Given the description of an element on the screen output the (x, y) to click on. 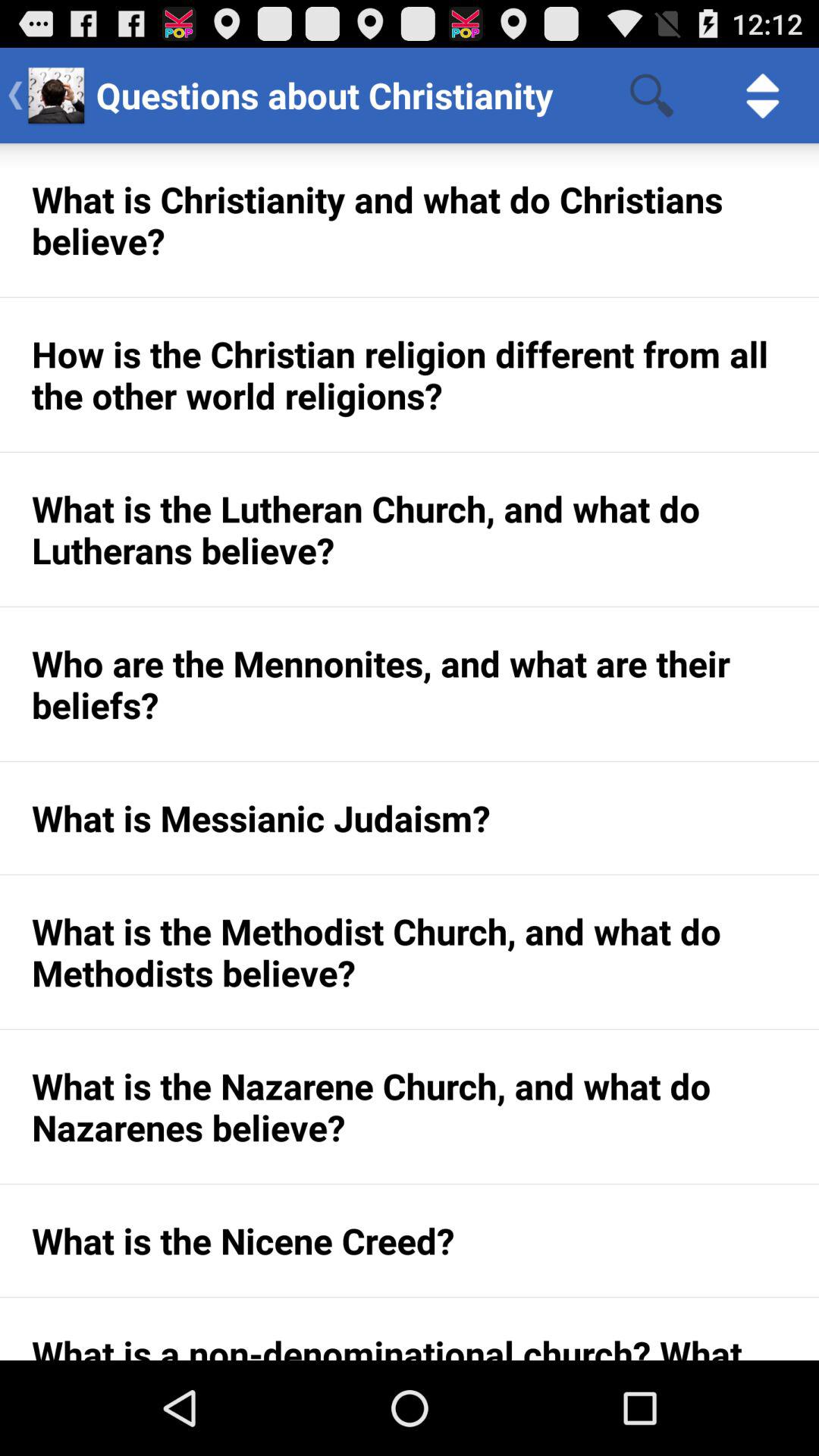
select item next to the questions about christianity app (651, 95)
